Given the description of an element on the screen output the (x, y) to click on. 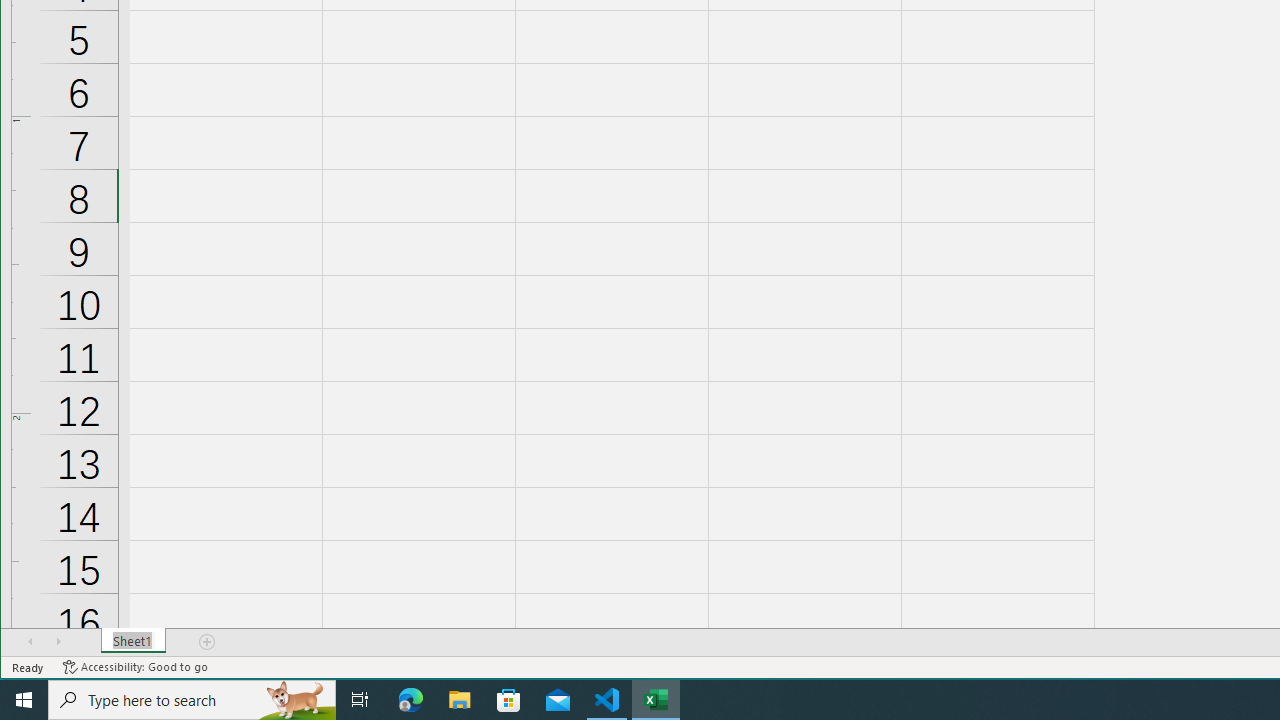
File Explorer (460, 699)
